Given the description of an element on the screen output the (x, y) to click on. 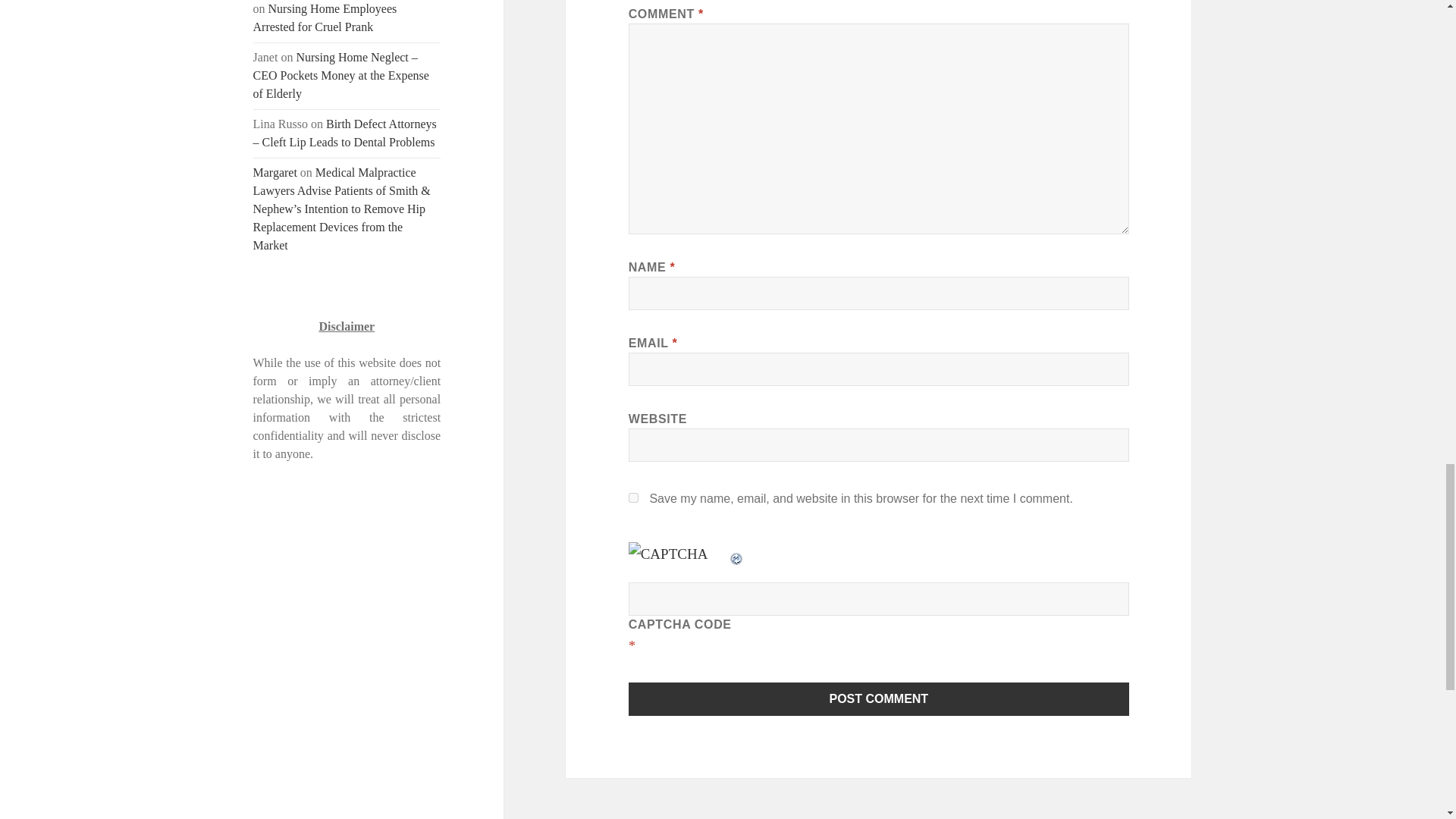
yes (633, 497)
CAPTCHA (678, 558)
Post Comment (878, 698)
Refresh (737, 553)
